Given the description of an element on the screen output the (x, y) to click on. 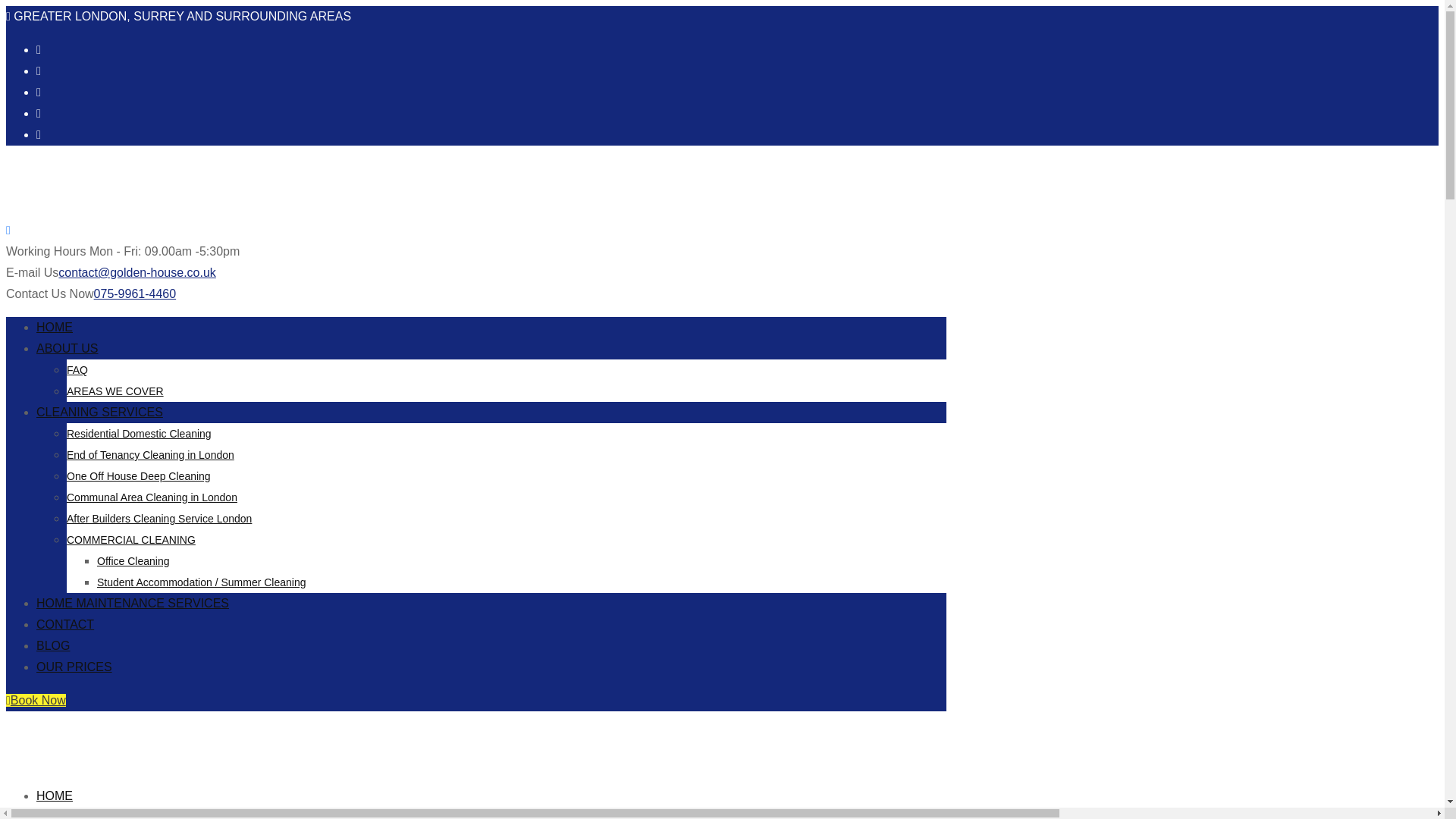
End of Tenancy Cleaning in London (150, 454)
CLEANING SERVICES (99, 411)
Book Now (35, 699)
One Off House Deep Cleaning (138, 476)
ABOUT US (67, 348)
FAQ (76, 369)
OUR PRICES (74, 666)
CONTACT (65, 624)
AREAS WE COVER (114, 390)
HOME MAINTENANCE SERVICES (132, 603)
